Given the description of an element on the screen output the (x, y) to click on. 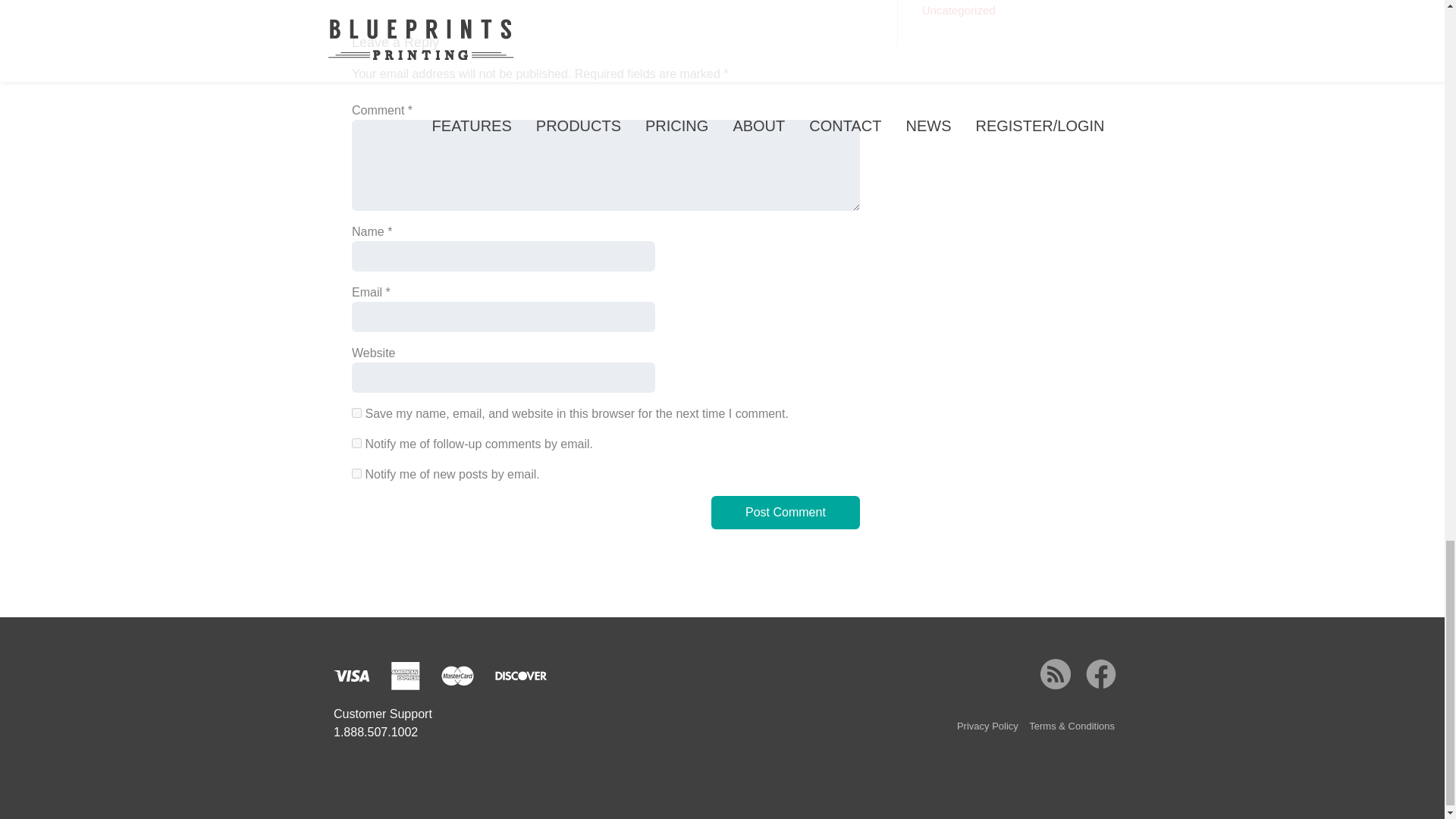
Post Comment (785, 512)
subscribe (356, 442)
Post Comment (785, 512)
yes (356, 412)
subscribe (356, 473)
